Given the description of an element on the screen output the (x, y) to click on. 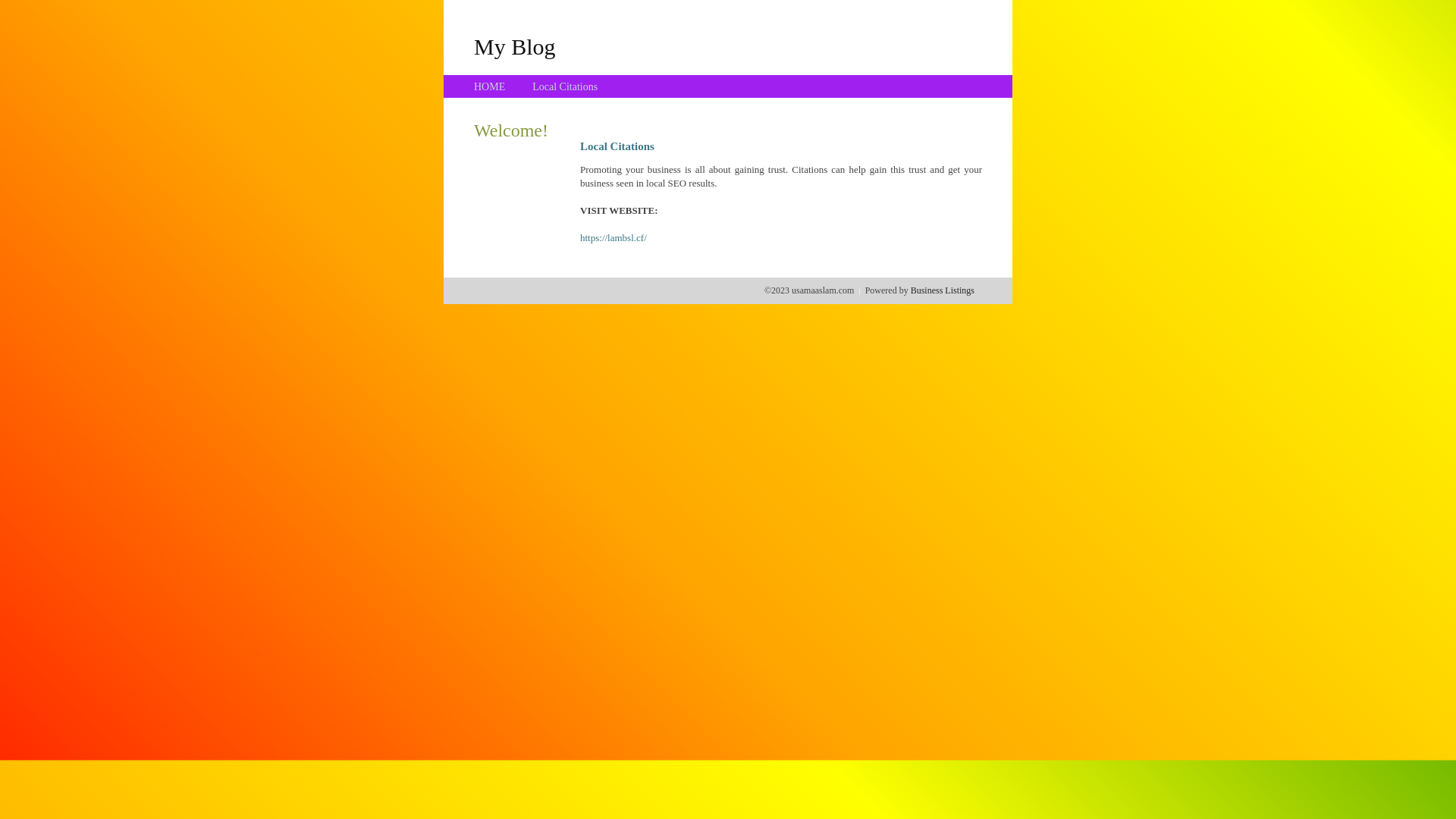
Business Listings Element type: text (942, 290)
https://lambsl.cf/ Element type: text (613, 237)
Local Citations Element type: text (564, 86)
HOME Element type: text (489, 86)
My Blog Element type: text (514, 46)
